Given the description of an element on the screen output the (x, y) to click on. 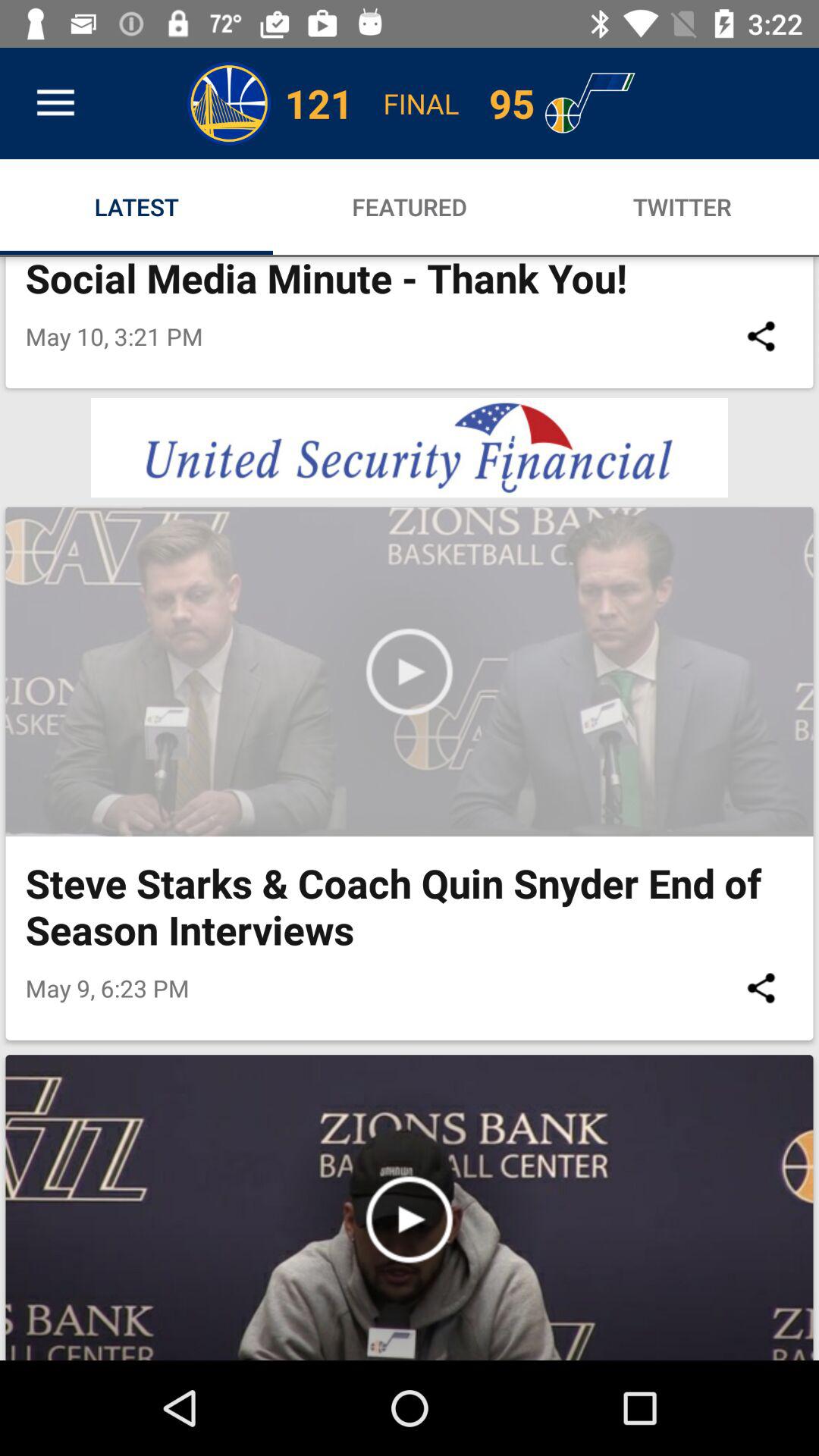
click on twitter right to featured (682, 206)
